Given the description of an element on the screen output the (x, y) to click on. 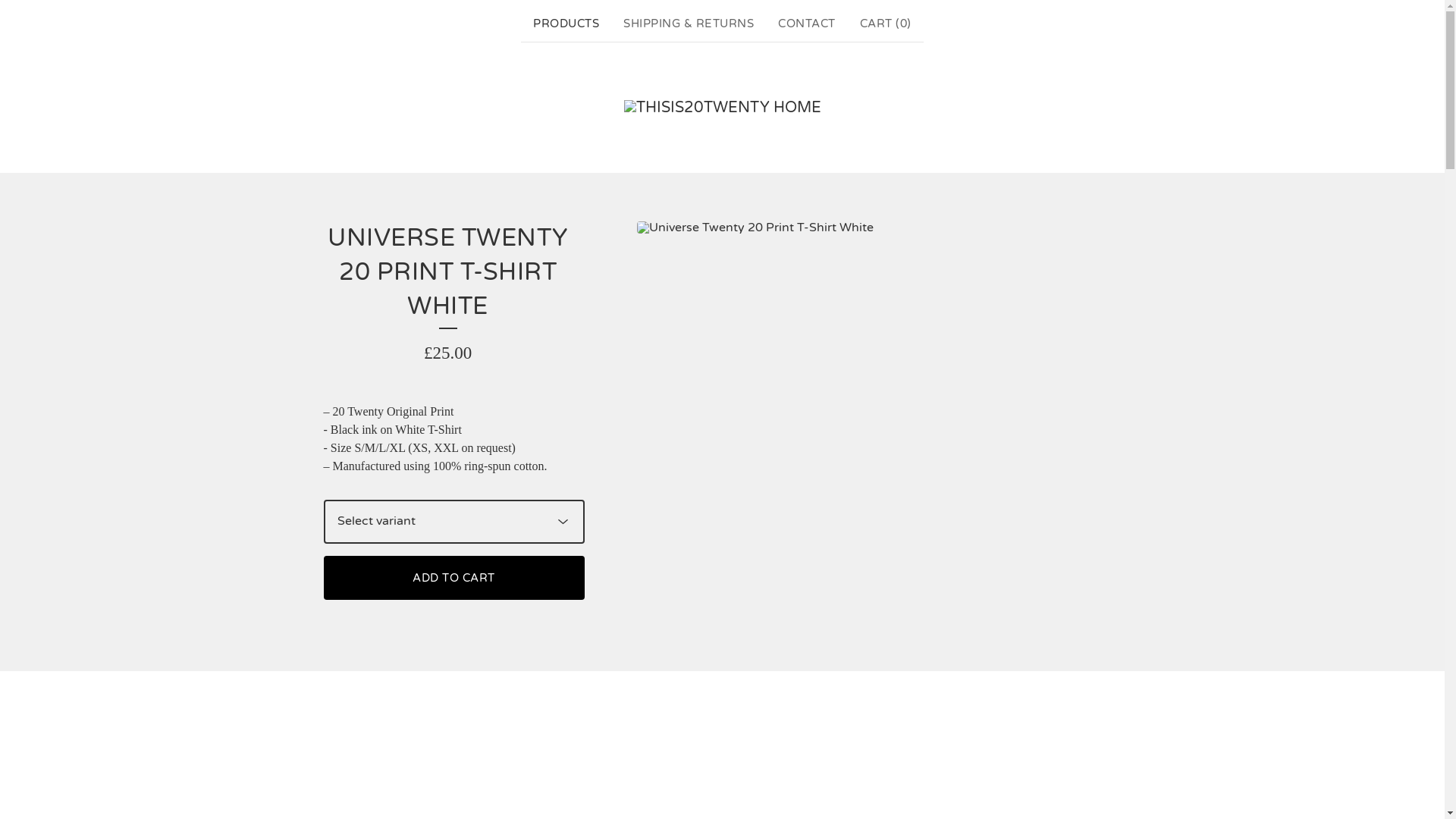
Home Element type: hover (721, 107)
CART (0) Element type: text (885, 23)
CONTACT Element type: text (806, 23)
SHIPPING & RETURNS Element type: text (688, 23)
ADD TO CART Element type: text (453, 577)
PRODUCTS Element type: text (566, 23)
